Given the description of an element on the screen output the (x, y) to click on. 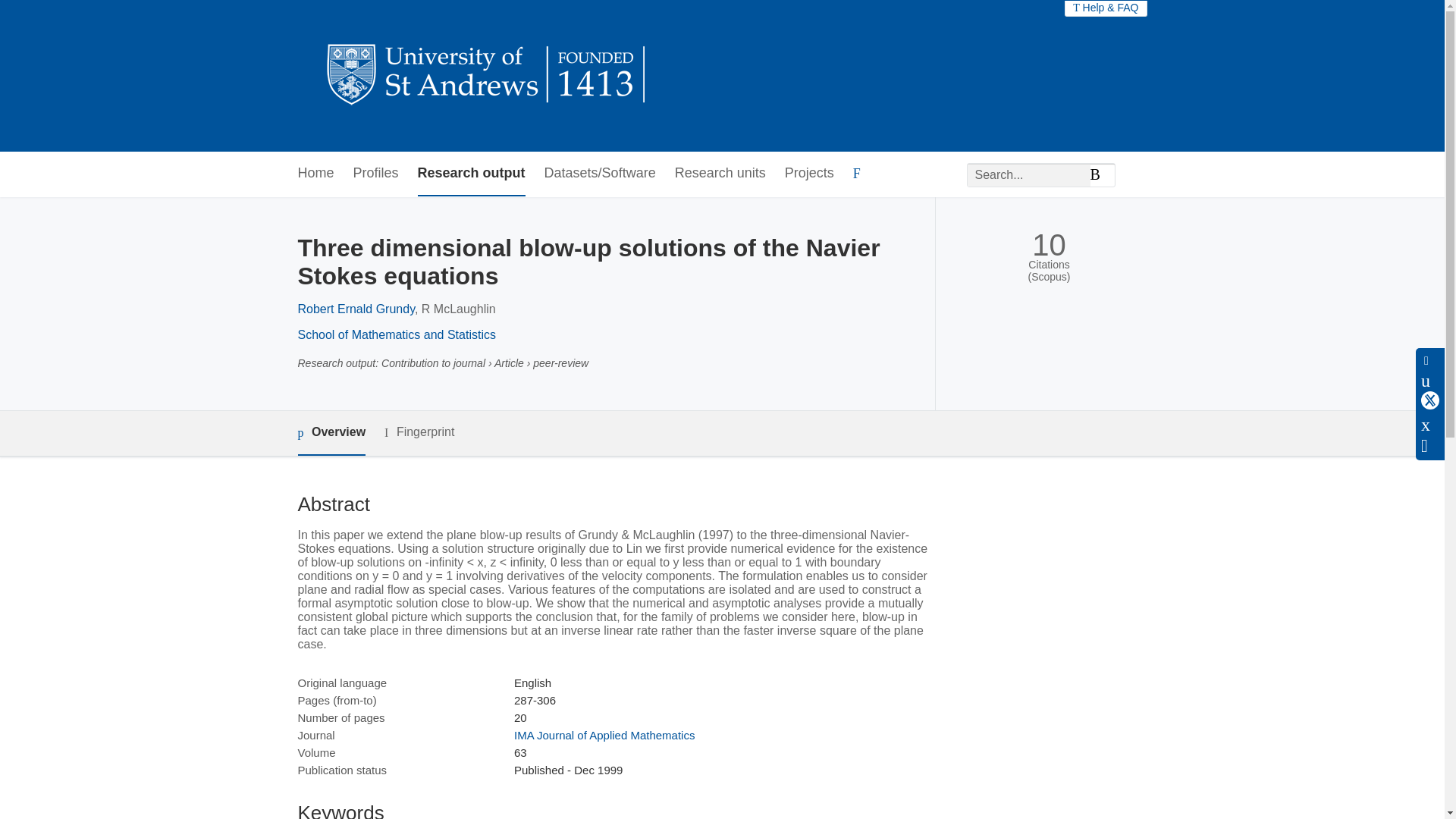
Research output (471, 173)
Robert Ernald Grundy (355, 308)
Fingerprint (419, 432)
Research units (720, 173)
Profiles (375, 173)
Projects (809, 173)
University of St Andrews Research Portal Home (487, 75)
School of Mathematics and Statistics (396, 334)
IMA Journal of Applied Mathematics (603, 735)
Overview (331, 433)
